Given the description of an element on the screen output the (x, y) to click on. 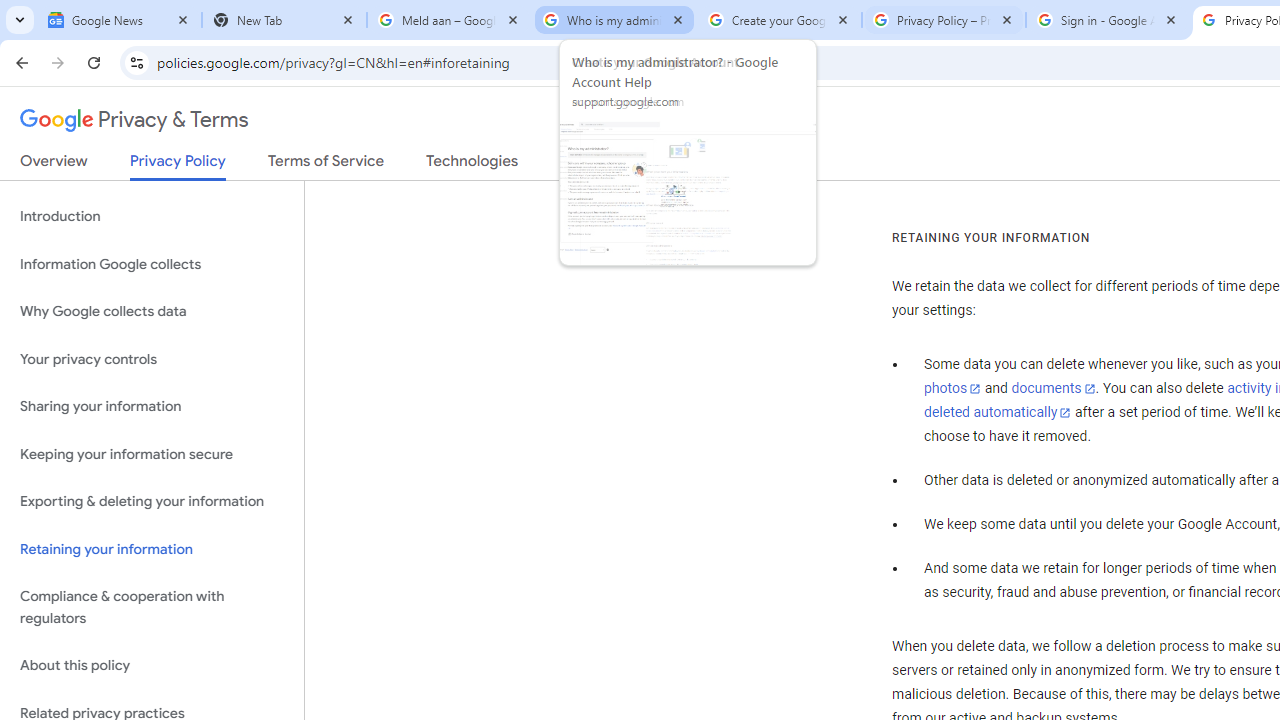
Google News (119, 20)
Sign in - Google Accounts (1108, 20)
Create your Google Account (779, 20)
